Given the description of an element on the screen output the (x, y) to click on. 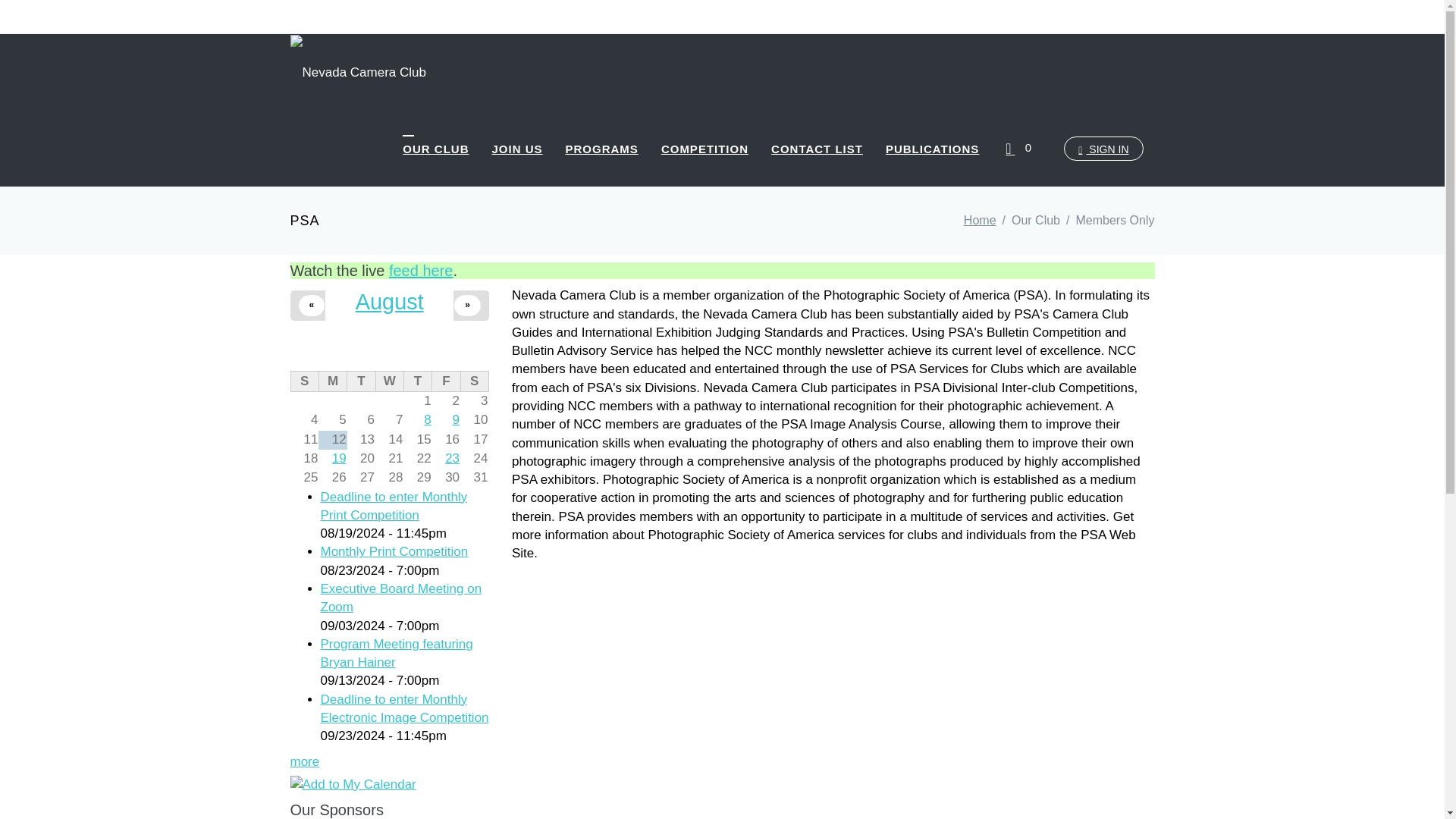
CONTACT LIST (817, 148)
Home (979, 219)
PROGRAMS (601, 148)
Publications (932, 148)
0 (1021, 149)
Our Club (435, 148)
OUR CLUB (435, 148)
JOIN US (517, 148)
Competition (704, 148)
Navigate to next month (466, 305)
